Given the description of an element on the screen output the (x, y) to click on. 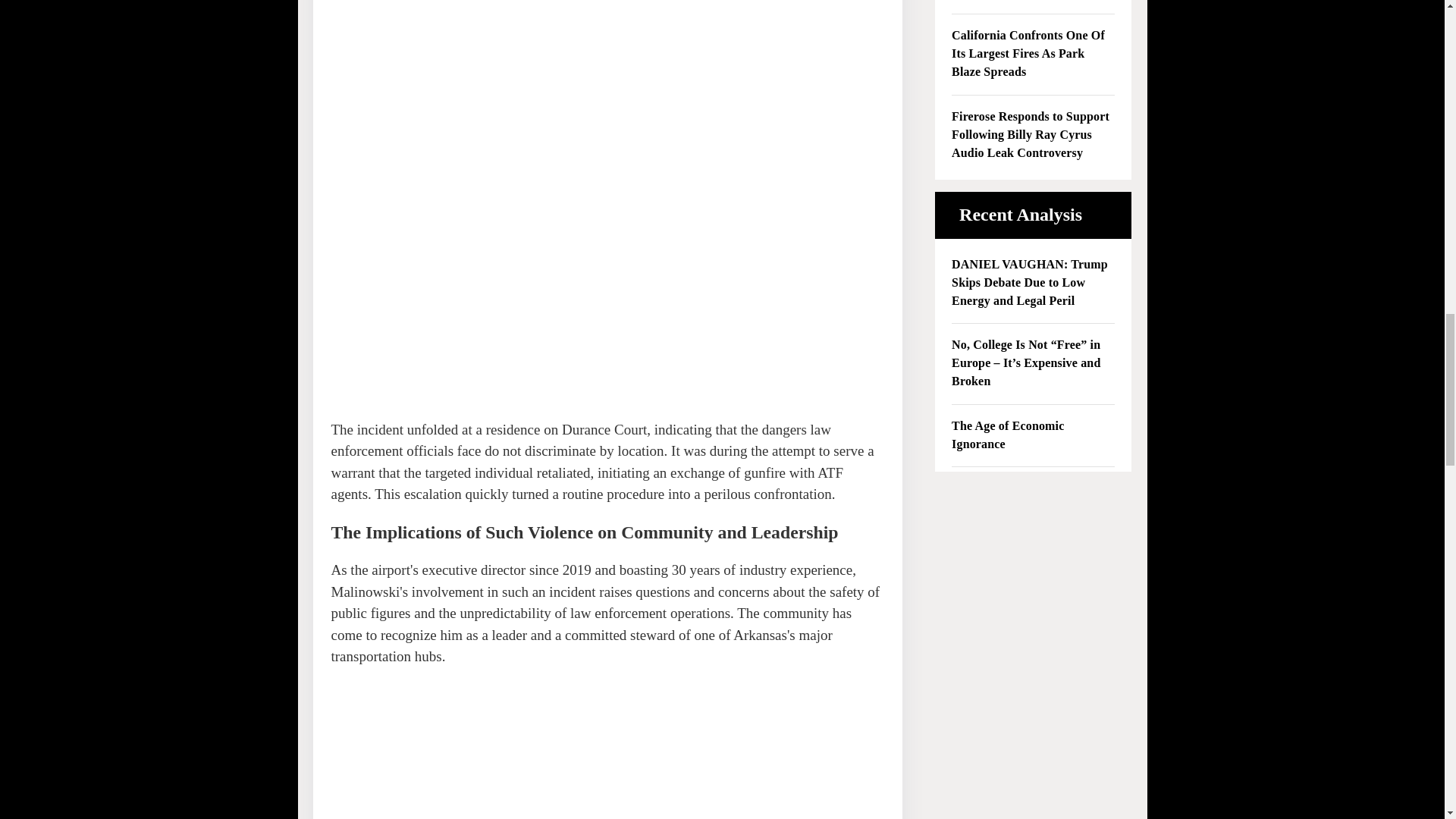
The Age of Economic Ignorance (1033, 435)
